Given the description of an element on the screen output the (x, y) to click on. 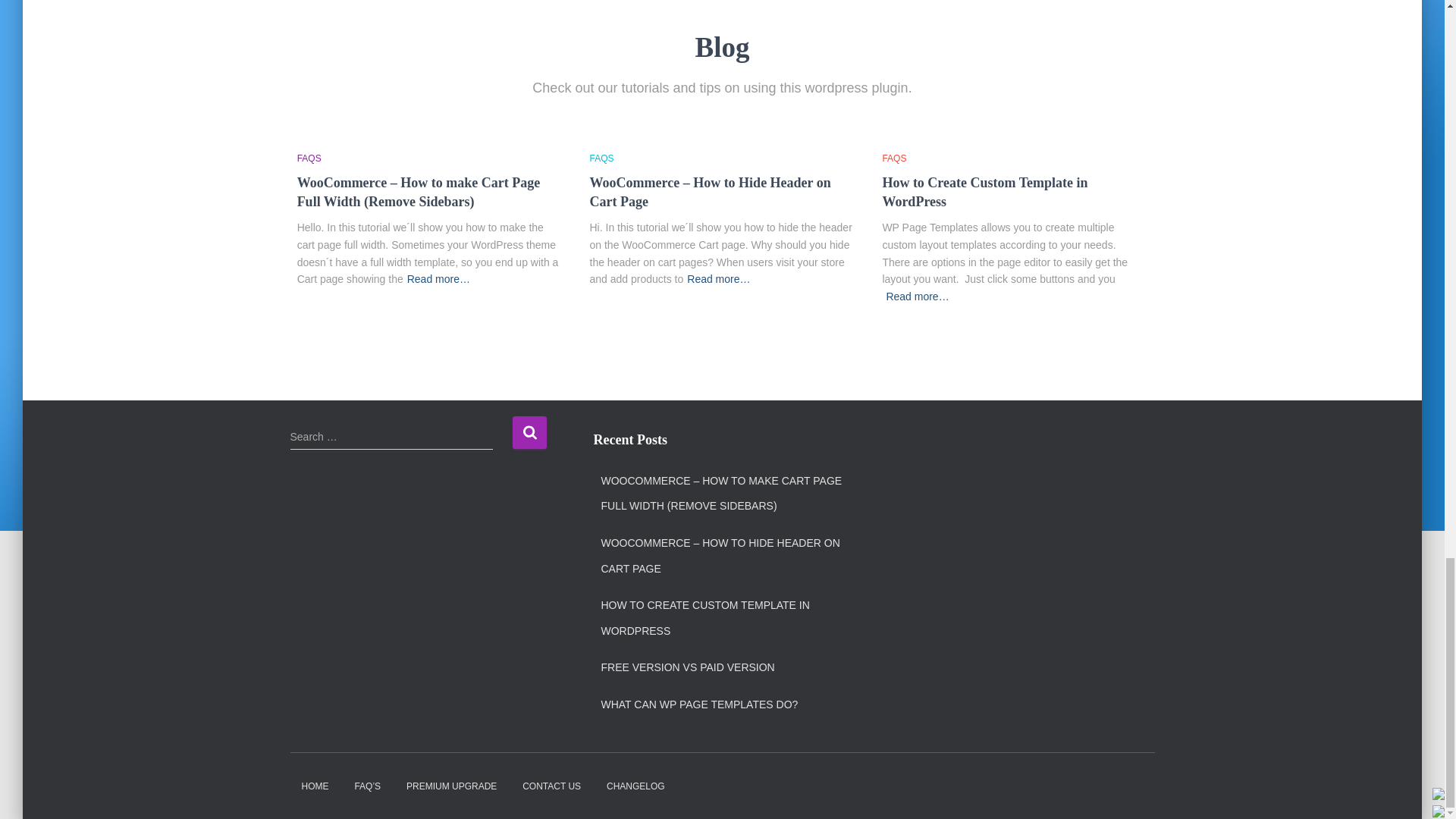
How to Create Custom Template in WordPress (984, 192)
FAQS (601, 158)
HOME (314, 786)
Search (529, 432)
Search (529, 432)
Search (529, 432)
FAQS (893, 158)
View all posts in FAQs (893, 158)
PREMIUM UPGRADE (451, 786)
FREE VERSION VS PAID VERSION (686, 667)
